Given the description of an element on the screen output the (x, y) to click on. 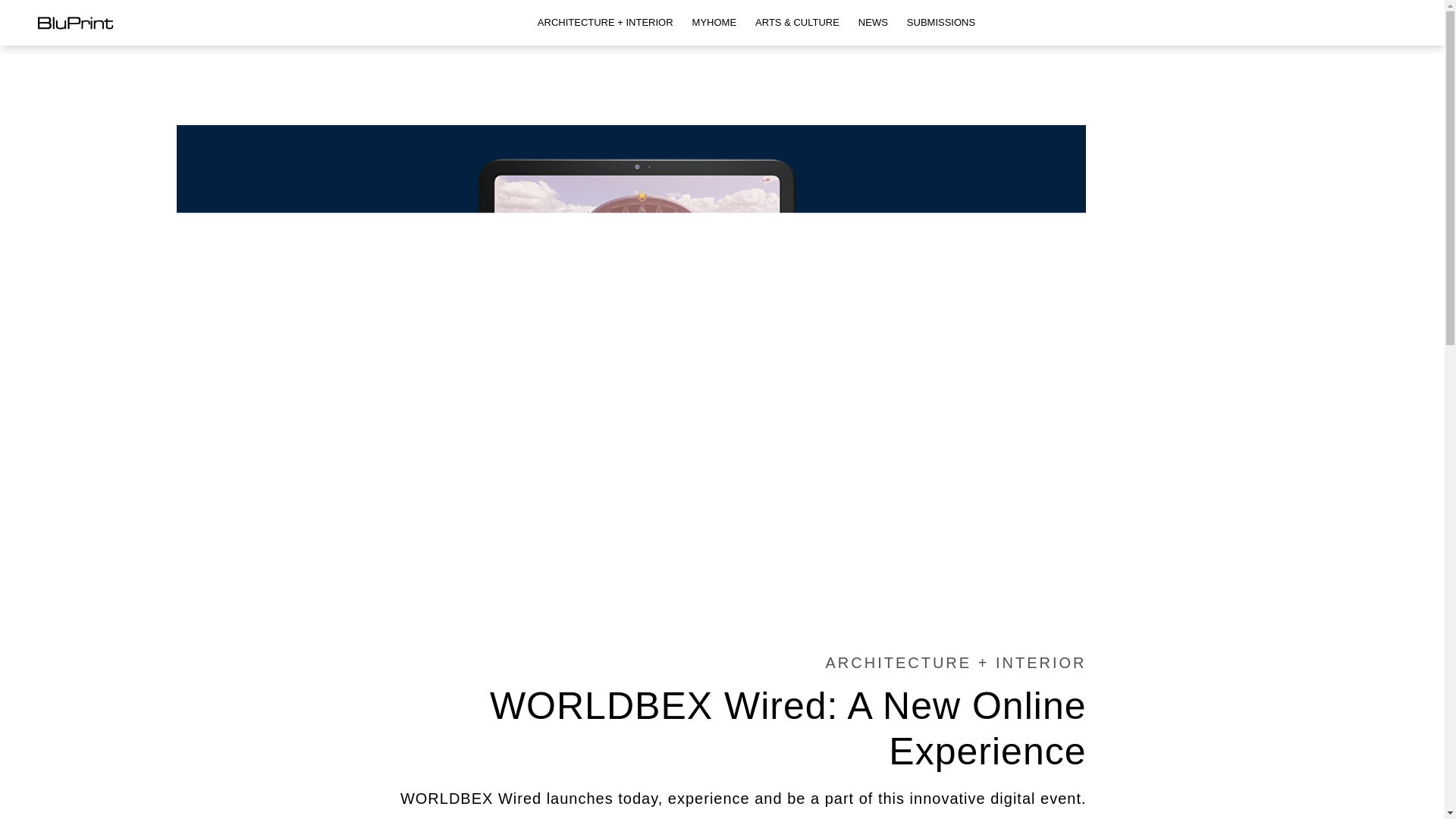
Search (9, 8)
SUBMISSIONS (940, 22)
MYHOME (714, 22)
NEWS (872, 22)
